Given the description of an element on the screen output the (x, y) to click on. 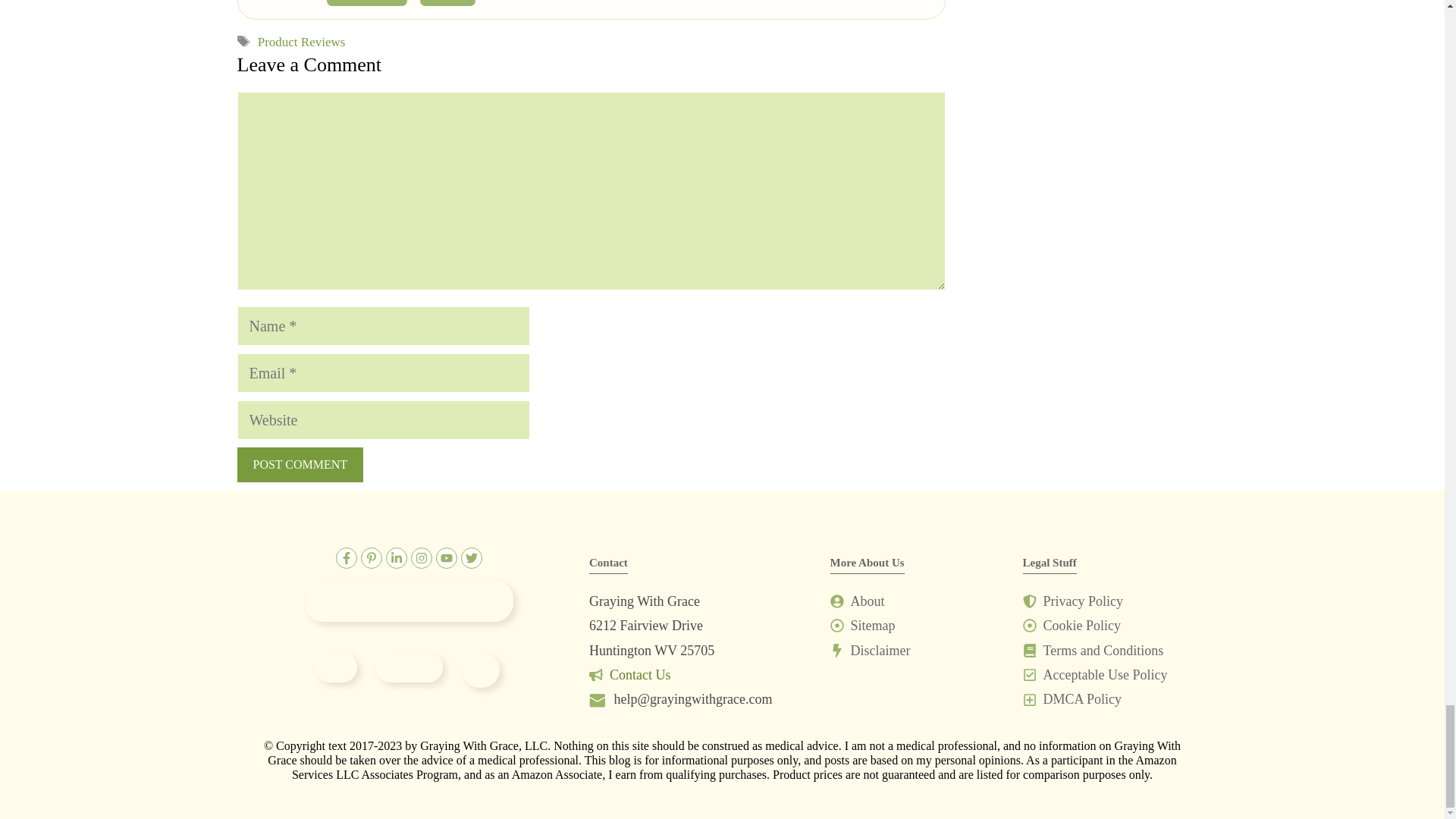
certified senior home safety specialist 50 (480, 669)
resna-atp-logo-1 (408, 666)
Post Comment (298, 464)
Site Logo (408, 600)
